Given the description of an element on the screen output the (x, y) to click on. 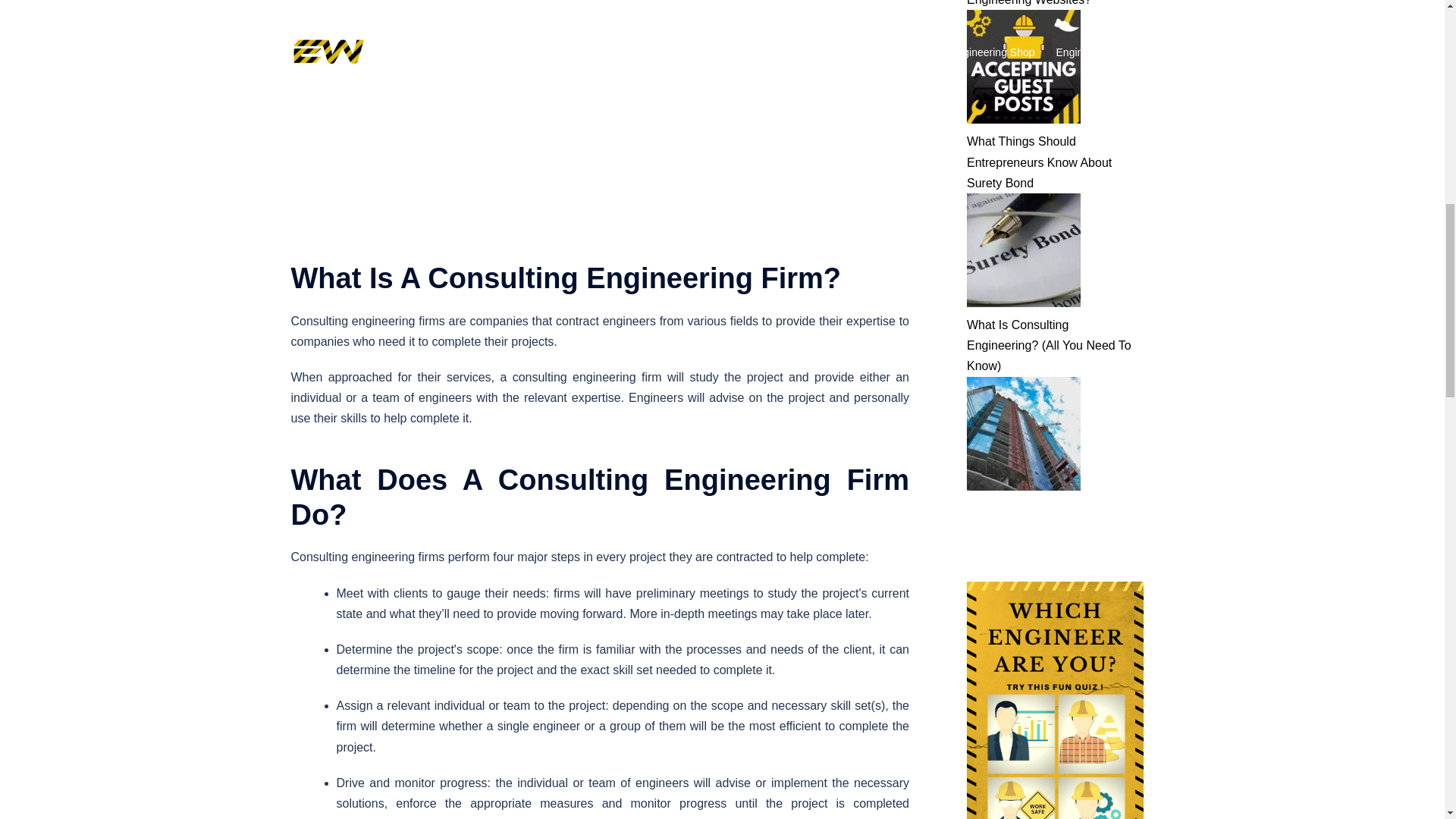
Advertisement (598, 114)
What Things Should Entrepreneurs Know About Surety Bond (1039, 162)
Why Backlinks are Important for Engineering Websites? (1052, 2)
